Given the description of an element on the screen output the (x, y) to click on. 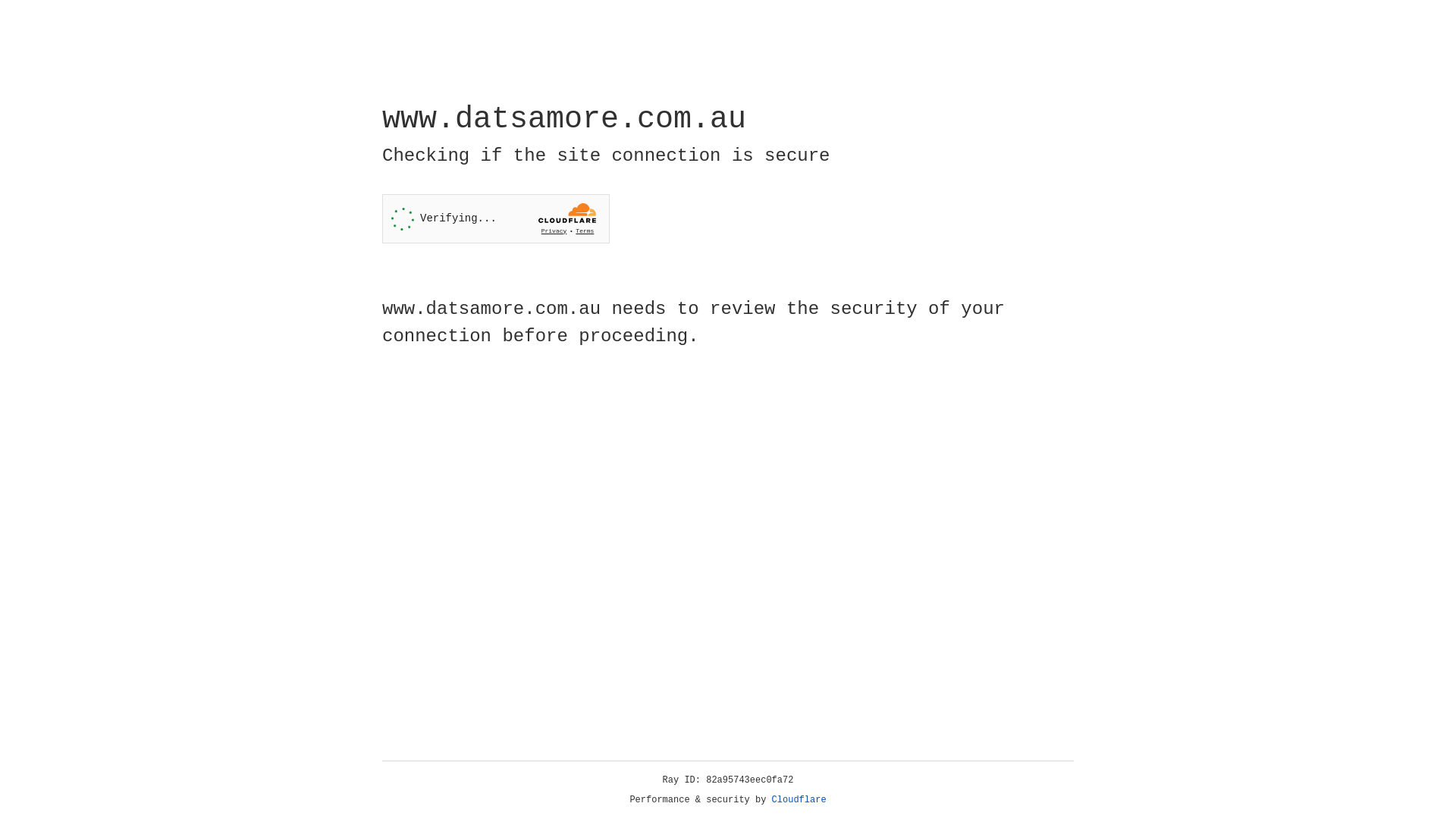
Widget containing a Cloudflare security challenge Element type: hover (495, 218)
Cloudflare Element type: text (798, 799)
